Given the description of an element on the screen output the (x, y) to click on. 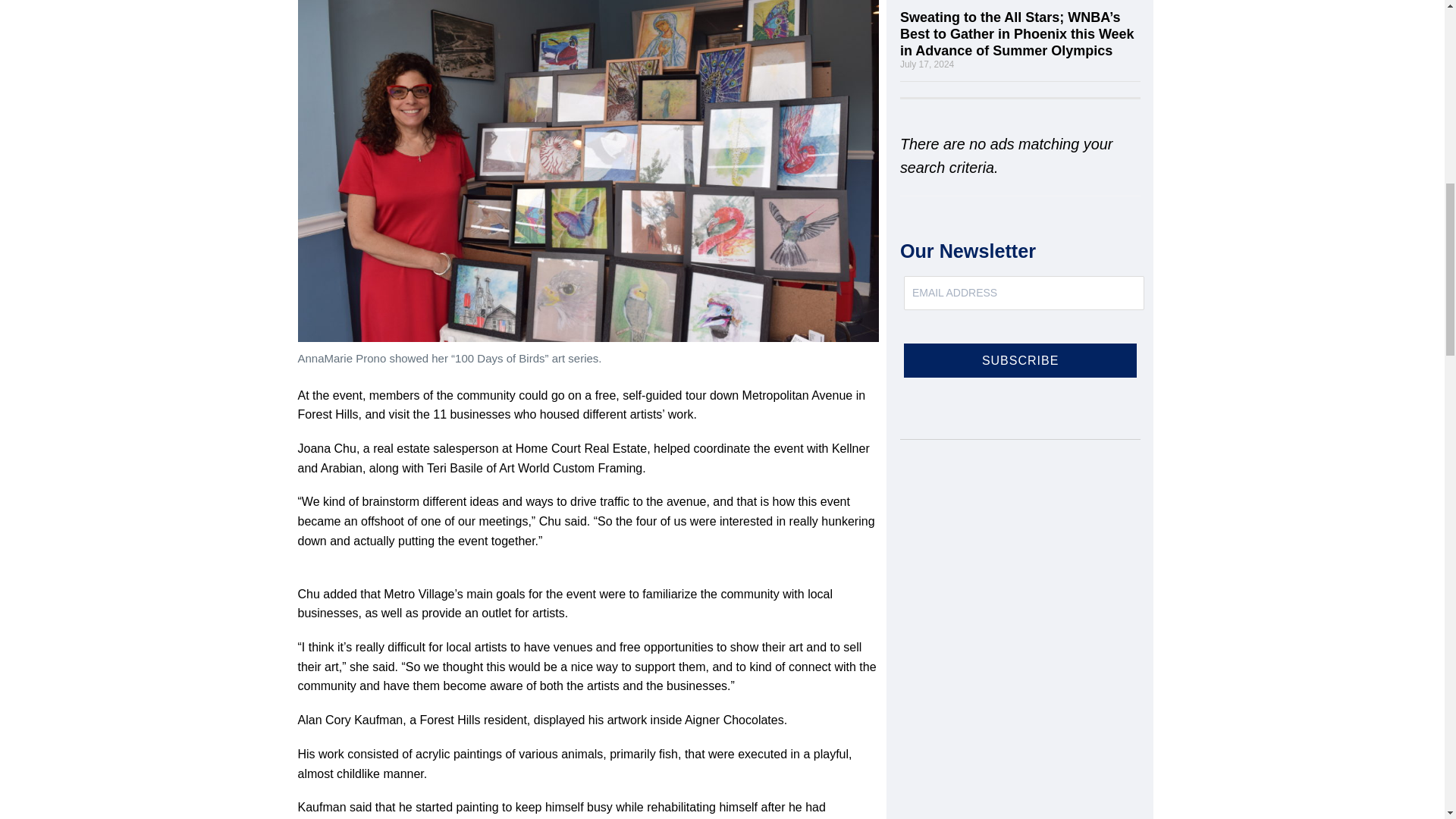
Subscribe (1020, 360)
